Given the description of an element on the screen output the (x, y) to click on. 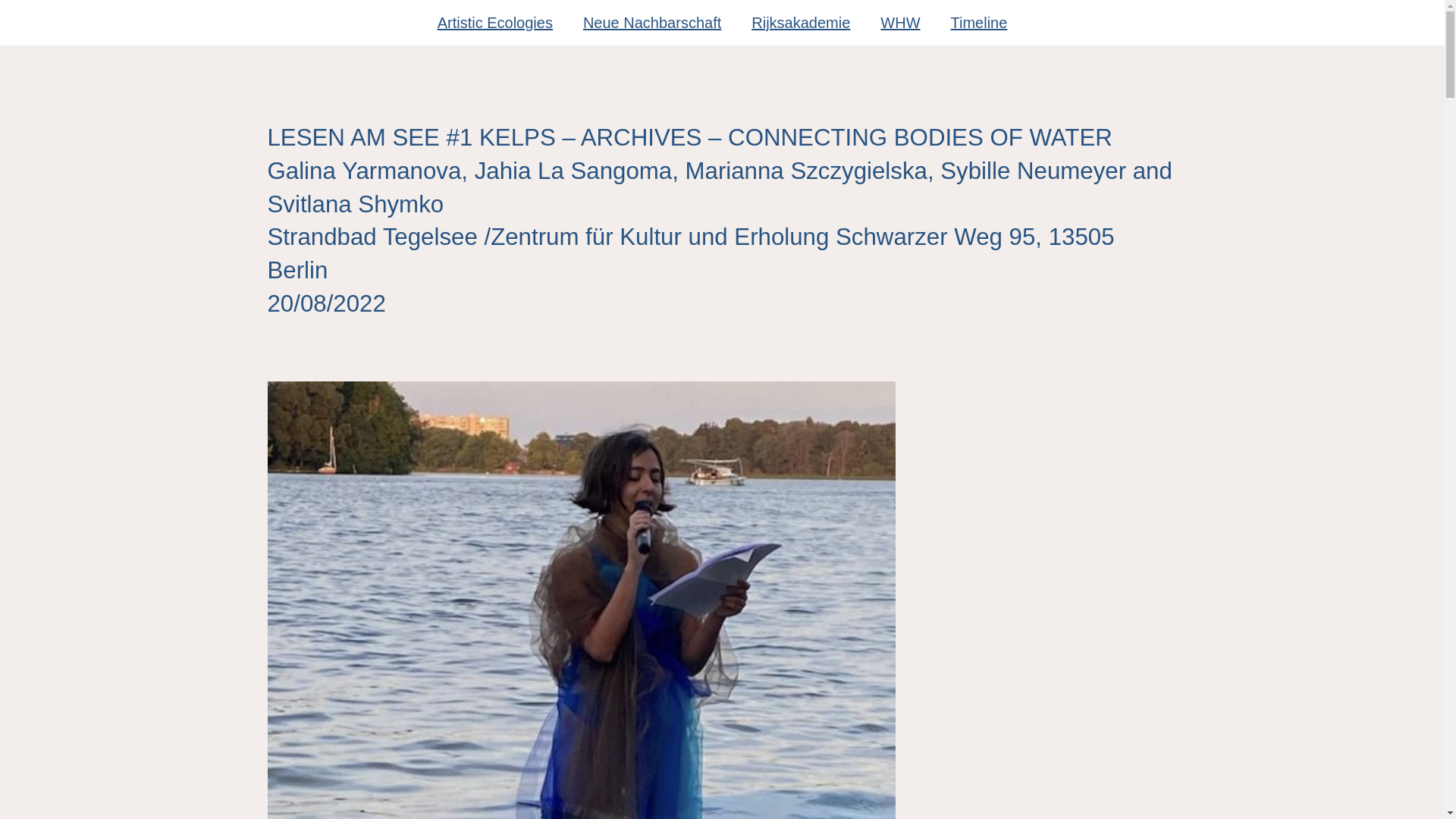
Artistic Ecologies (494, 22)
WHW (899, 22)
Rijksakademie (800, 22)
Timeline (979, 22)
Neue Nachbarschaft (651, 22)
